Given the description of an element on the screen output the (x, y) to click on. 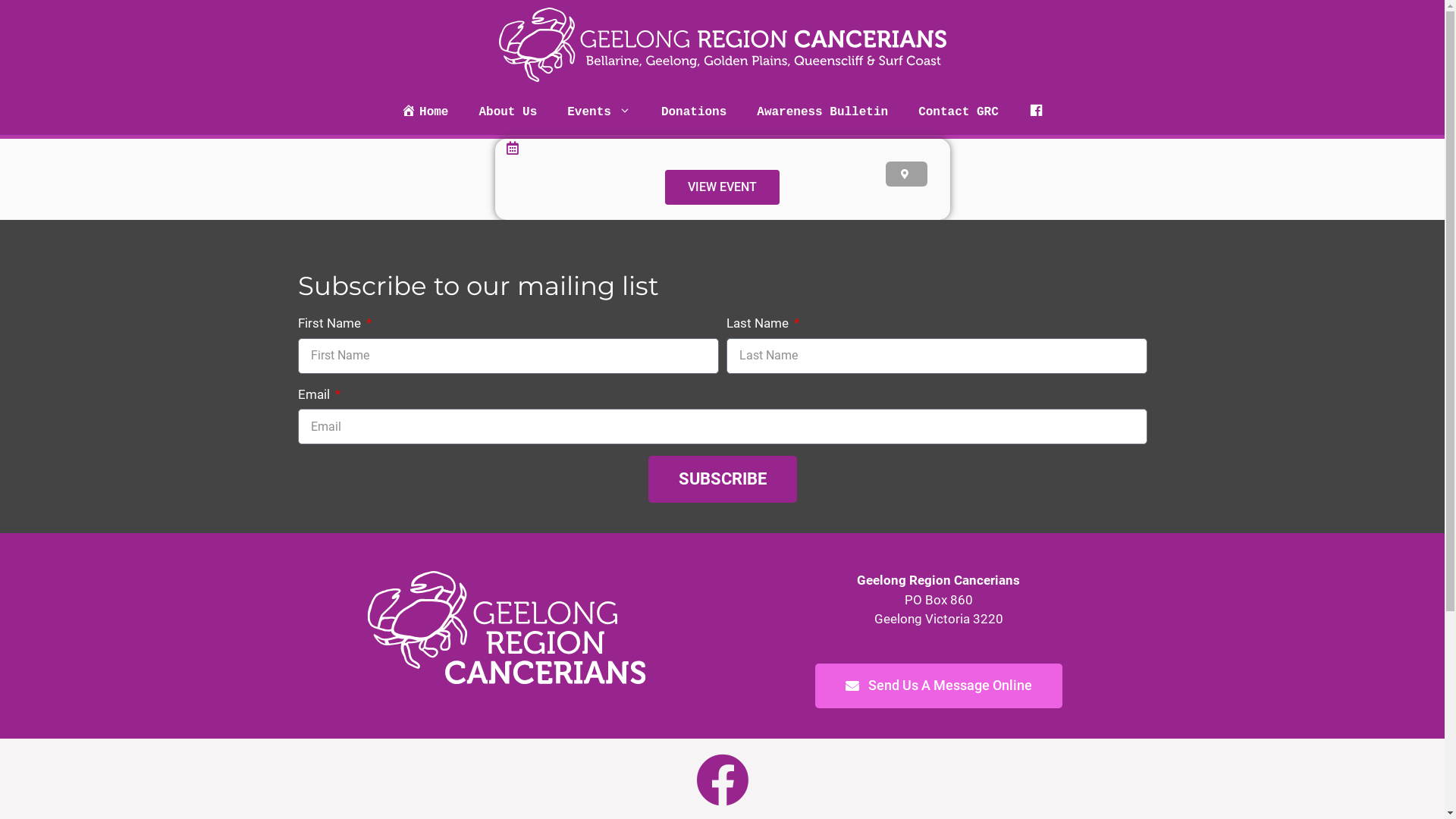
SUBSCRIBE Element type: text (721, 478)
Send Us A Message Online Element type: text (937, 685)
Facebook Element type: text (1035, 111)
Awareness Bulletin Element type: text (822, 111)
Contact GRC Element type: text (958, 111)
Donations Element type: text (693, 111)
Home Element type: text (424, 111)
Events Element type: text (599, 111)
VIEW EVENT Element type: text (722, 186)
About Us Element type: text (507, 111)
